Given the description of an element on the screen output the (x, y) to click on. 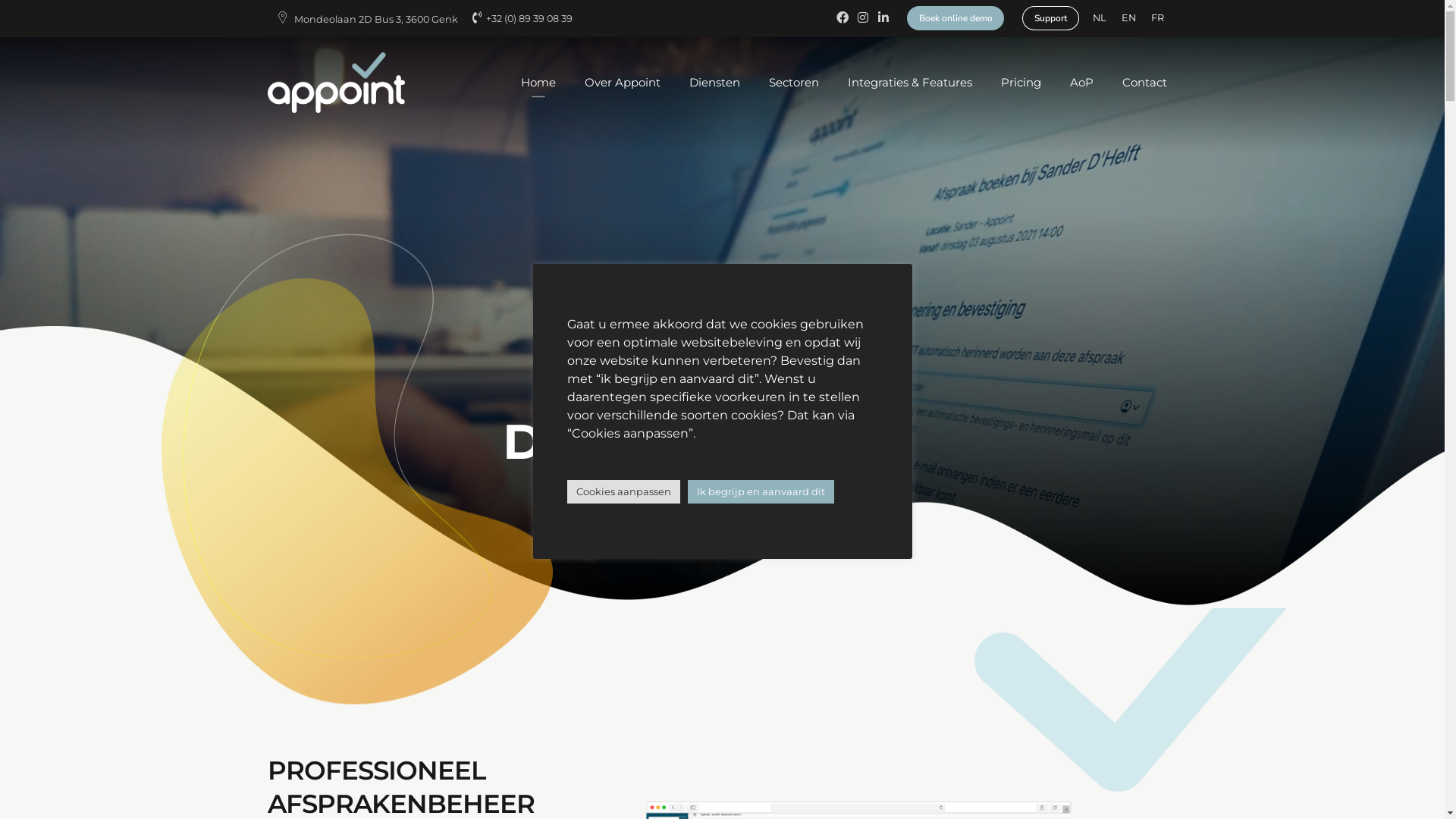
Integraties & Features Element type: text (909, 82)
EN Element type: text (1128, 18)
check_70 Element type: hover (774, 476)
Ik begrijp en aanvaard dit Element type: text (760, 490)
Support Element type: text (1050, 17)
+32 (0) 89 39 08 39 Element type: text (524, 18)
NL Element type: text (1099, 18)
Home Element type: text (537, 82)
floating_image_04 Element type: hover (359, 464)
Contact Element type: text (1144, 82)
Boek online demo Element type: text (955, 17)
Cookies aanpassen Element type: text (623, 490)
Over Appoint Element type: text (621, 82)
Diensten Element type: text (713, 82)
Pricing Element type: text (1020, 82)
FR Element type: text (1157, 18)
Sectoren Element type: text (793, 82)
AoP Element type: text (1080, 82)
